Given the description of an element on the screen output the (x, y) to click on. 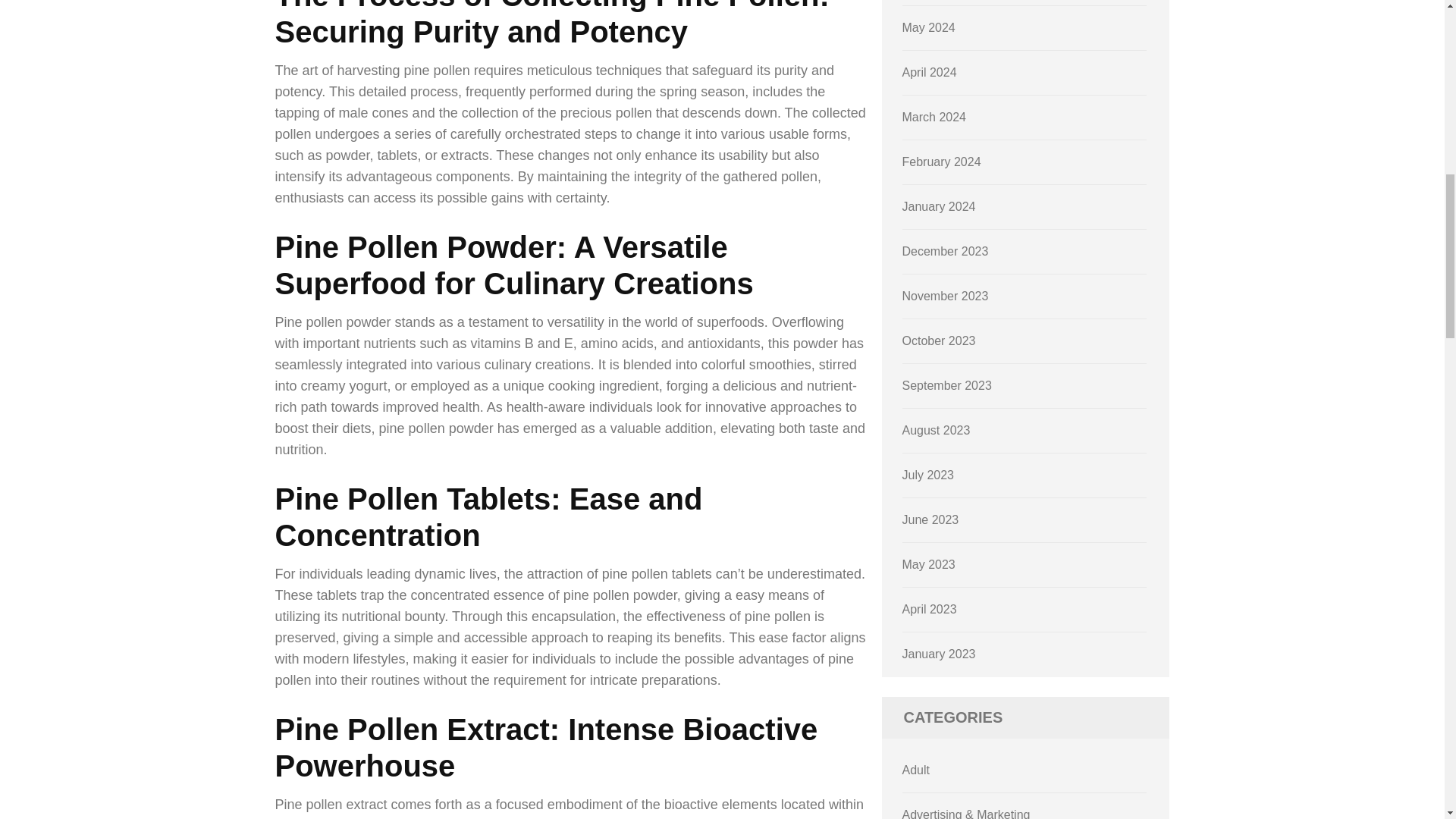
July 2023 (928, 474)
April 2023 (929, 608)
October 2023 (938, 340)
March 2024 (934, 116)
August 2023 (936, 430)
December 2023 (945, 250)
May 2023 (928, 563)
May 2024 (928, 27)
January 2024 (938, 205)
April 2024 (929, 72)
